Given the description of an element on the screen output the (x, y) to click on. 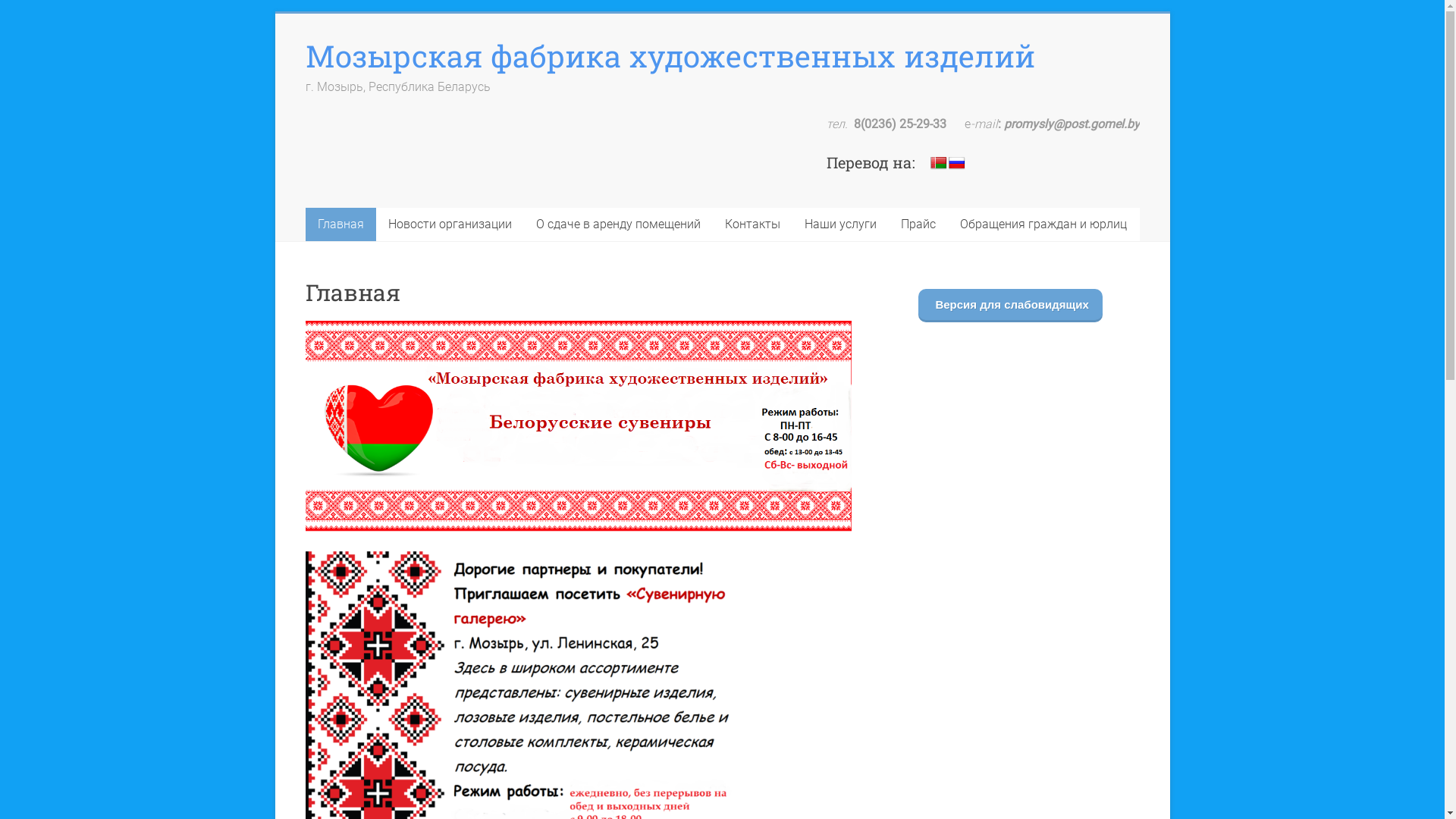
Belarusian Element type: hover (938, 163)
Russian Element type: hover (956, 163)
